Given the description of an element on the screen output the (x, y) to click on. 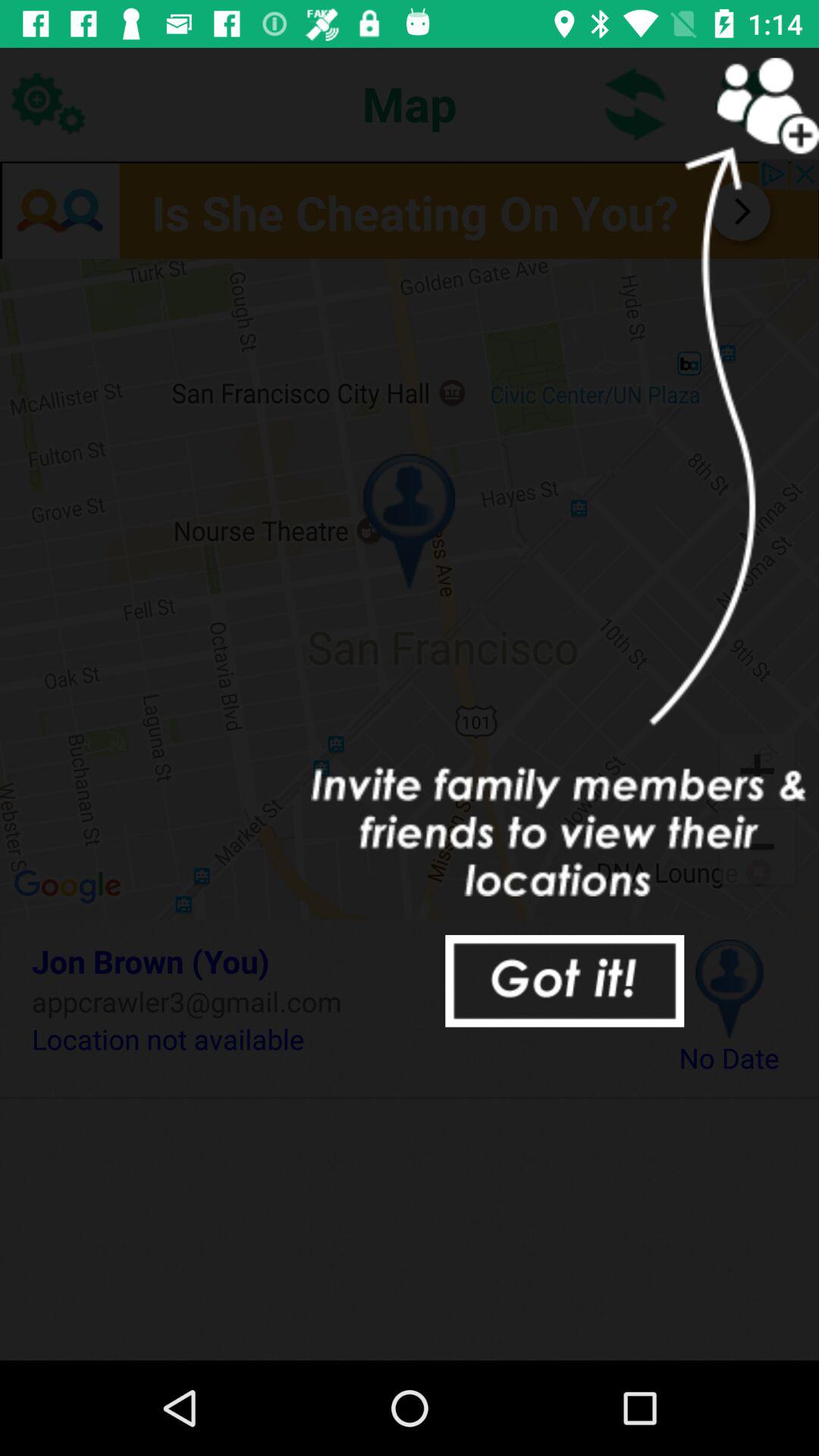
switch option (635, 103)
